Given the description of an element on the screen output the (x, y) to click on. 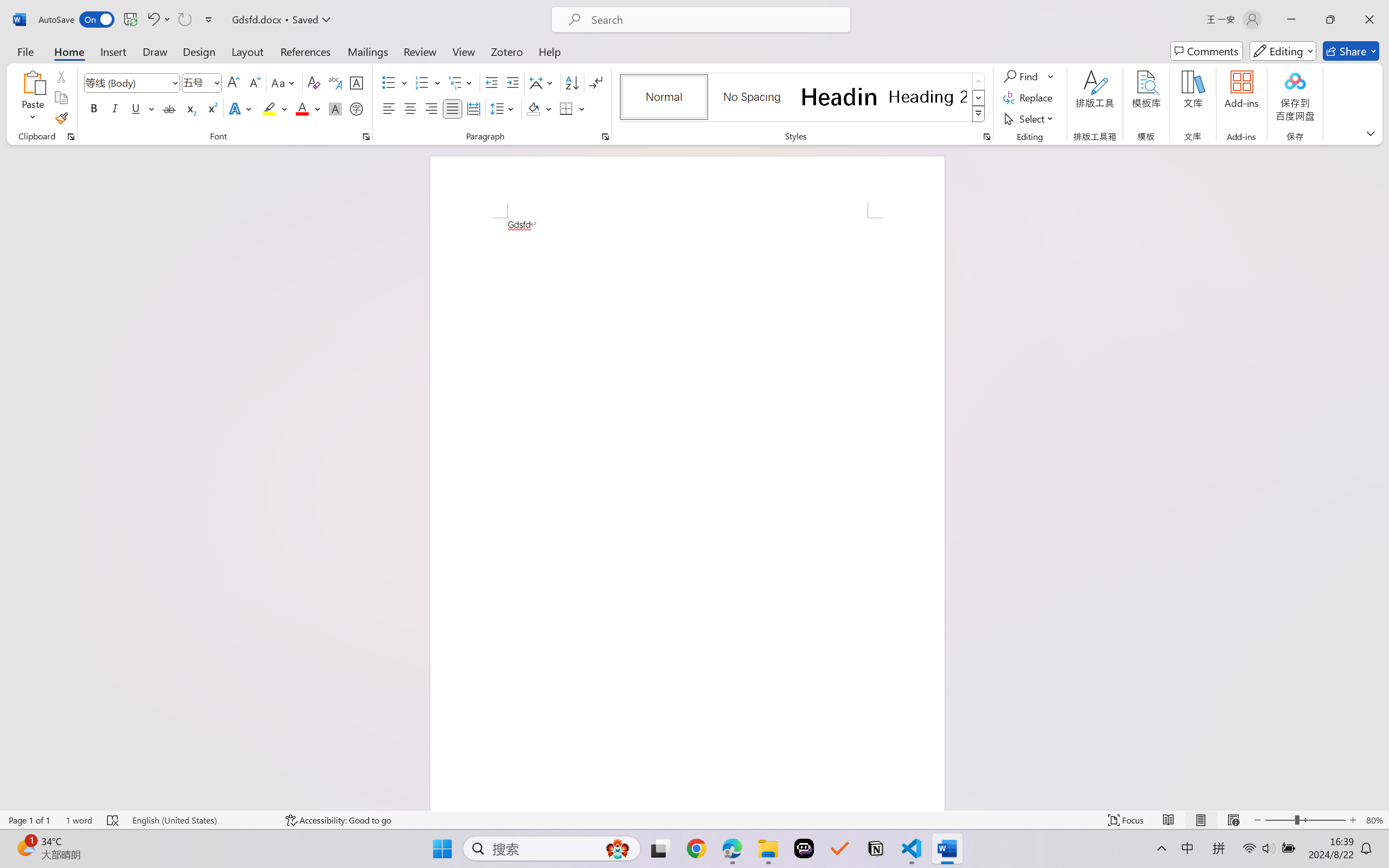
Font Color Red (302, 108)
